Given the description of an element on the screen output the (x, y) to click on. 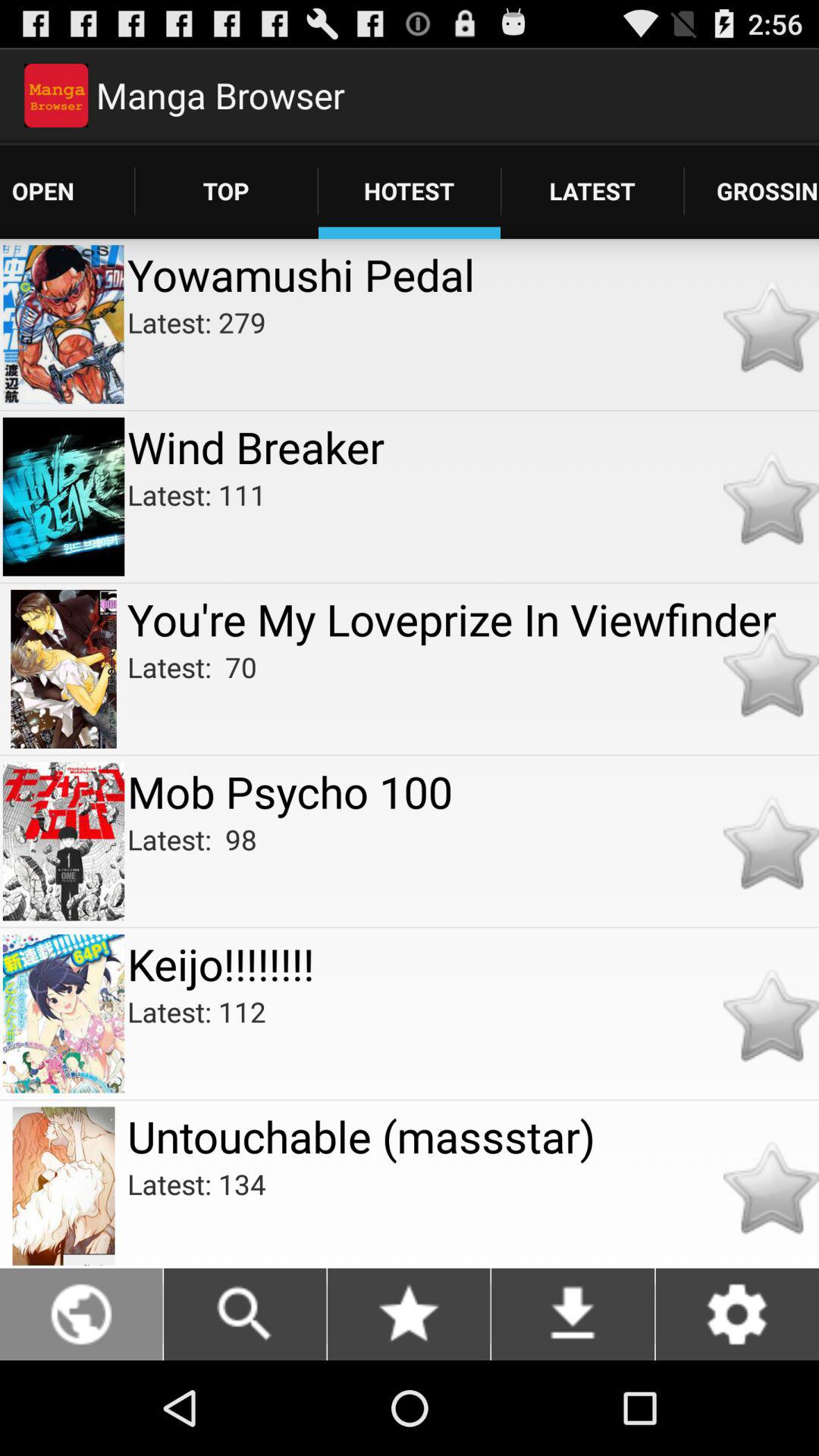
press mob psycho 100 app (473, 791)
